Given the description of an element on the screen output the (x, y) to click on. 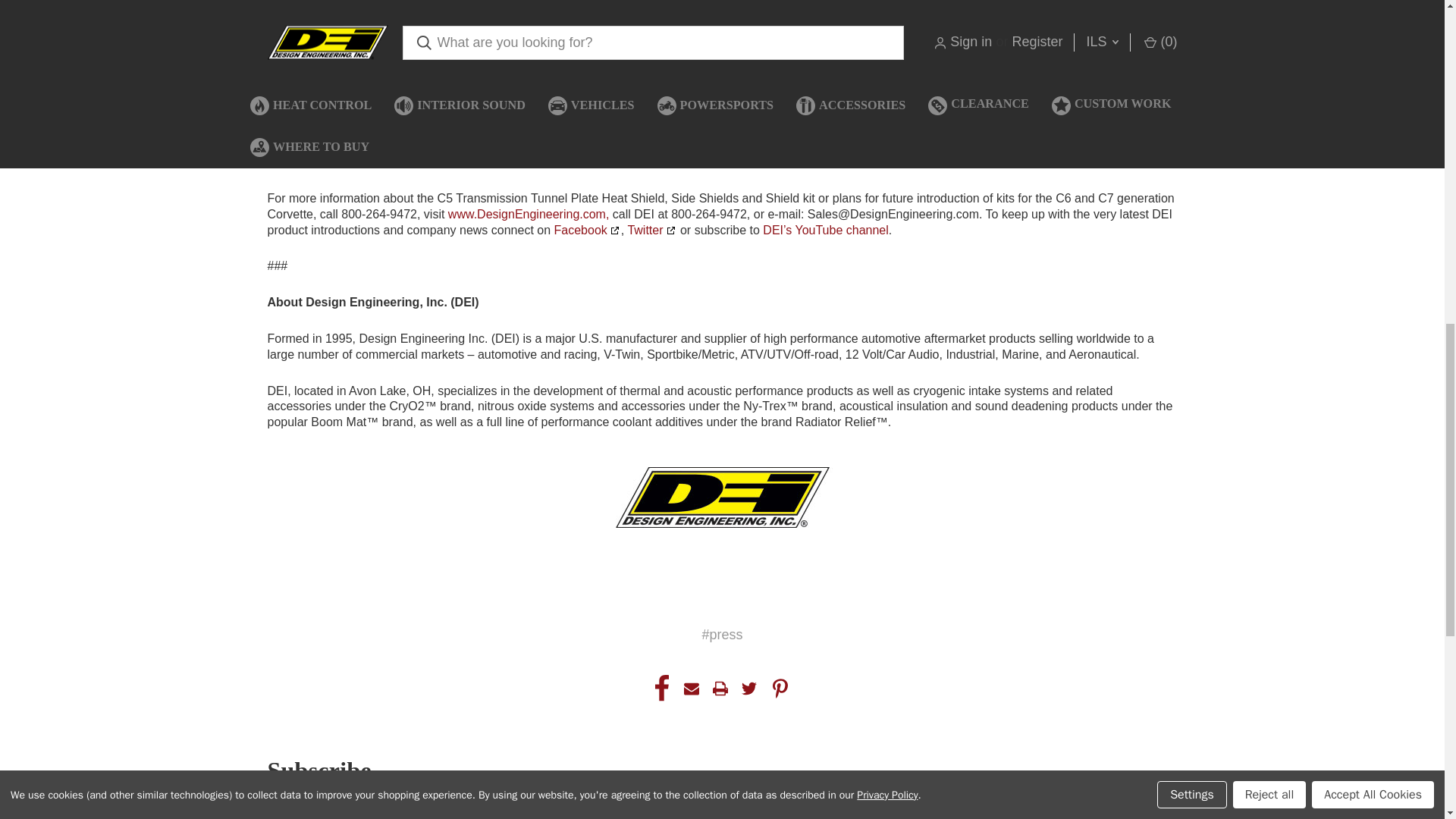
DEI on Twitter (652, 229)
DEI's YouTube Channel (825, 229)
DEI on Facebook (587, 229)
